Given the description of an element on the screen output the (x, y) to click on. 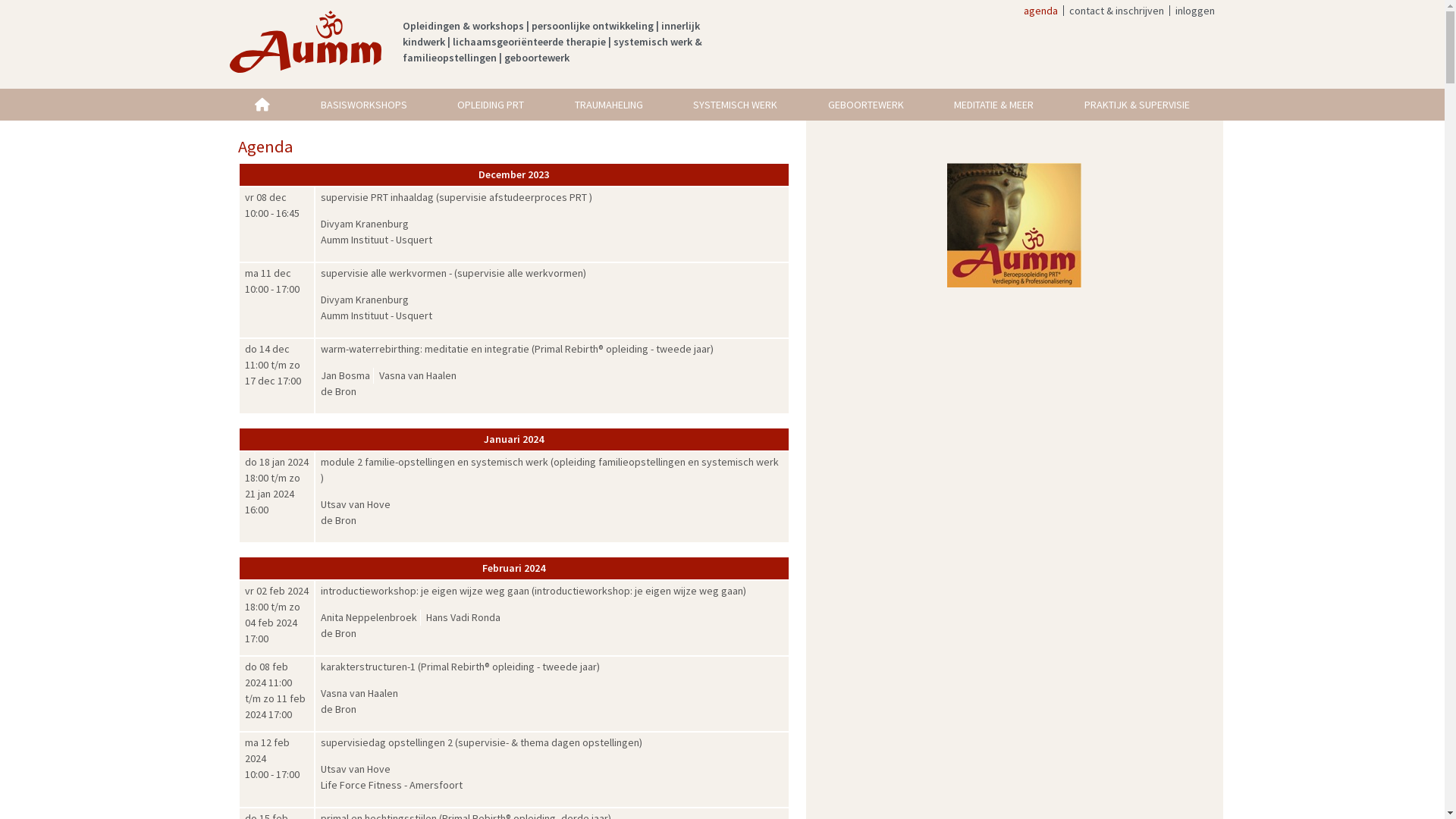
supervisie alle werkvormen - (supervisie alle werkvormen) Element type: text (452, 272)
PRAKTIJK & SUPERVISIE Element type: text (1137, 104)
Utsav van Hove Element type: text (354, 769)
Vasna van Haalen Element type: text (416, 375)
Aumm Instituut - Usquert Element type: text (375, 239)
OPLEIDING PRT Element type: text (490, 104)
inloggen Element type: text (1194, 10)
BASISWORKSHOPS Element type: text (363, 104)
Hans Vadi Ronda Element type: text (461, 617)
TRAUMAHELING Element type: text (608, 104)
agenda Element type: text (1040, 10)
Jan Bosma Element type: text (346, 375)
de Bron Element type: text (337, 633)
contact & inschrijven Element type: text (1116, 10)
Aumm Instituut - Usquert Element type: text (375, 315)
de Bron Element type: text (337, 708)
de Bron Element type: text (337, 391)
Divyam Kranenburg Element type: text (363, 224)
MEDITATIE & MEER Element type: text (993, 104)
Anita Neppelenbroek Element type: text (370, 617)
supervisie PRT inhaaldag (supervisie afstudeerproces PRT ) Element type: text (455, 196)
de Bron Element type: text (337, 520)
HOME Element type: text (261, 104)
Vasna van Haalen Element type: text (358, 693)
SYSTEMISCH WERK Element type: text (735, 104)
Divyam Kranenburg Element type: text (363, 299)
GEBOORTEWERK Element type: text (865, 104)
Utsav van Hove Element type: text (354, 504)
Life Force Fitness - Amersfoort Element type: text (390, 784)
